Given the description of an element on the screen output the (x, y) to click on. 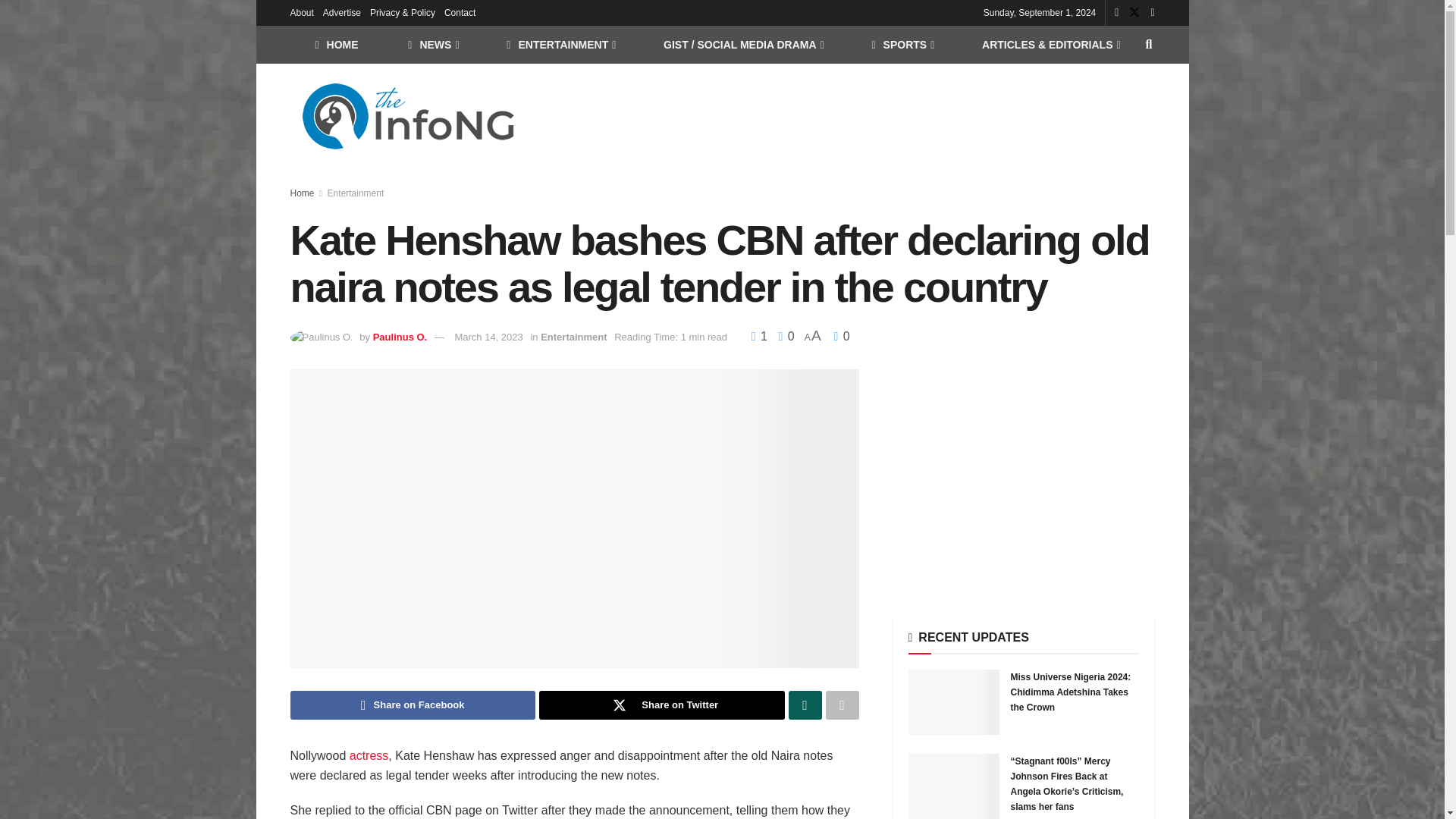
Contact (460, 12)
Sport (902, 44)
NEWS (431, 44)
Advertise (342, 12)
About (301, 12)
HOME (335, 44)
ENTERTAINMENT (560, 44)
